Given the description of an element on the screen output the (x, y) to click on. 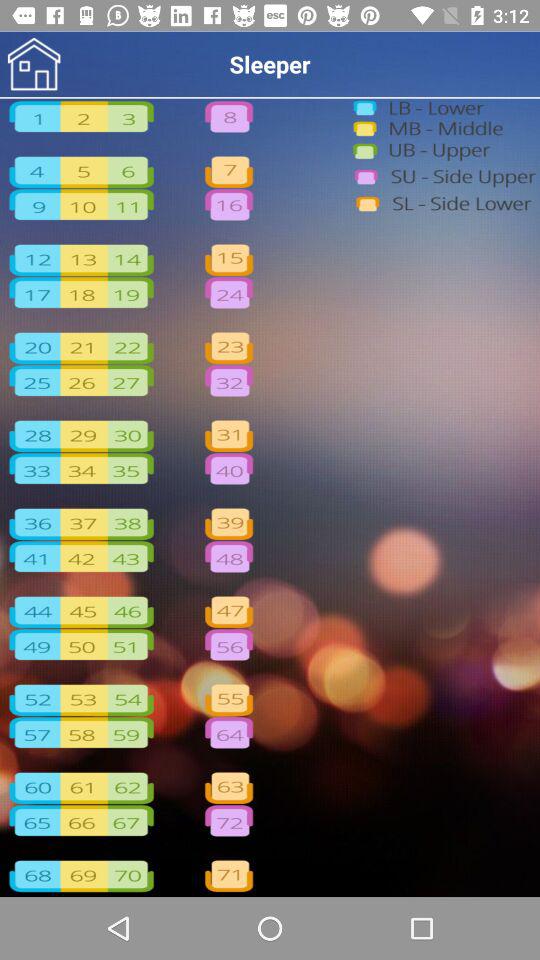
go to home page (33, 63)
